Given the description of an element on the screen output the (x, y) to click on. 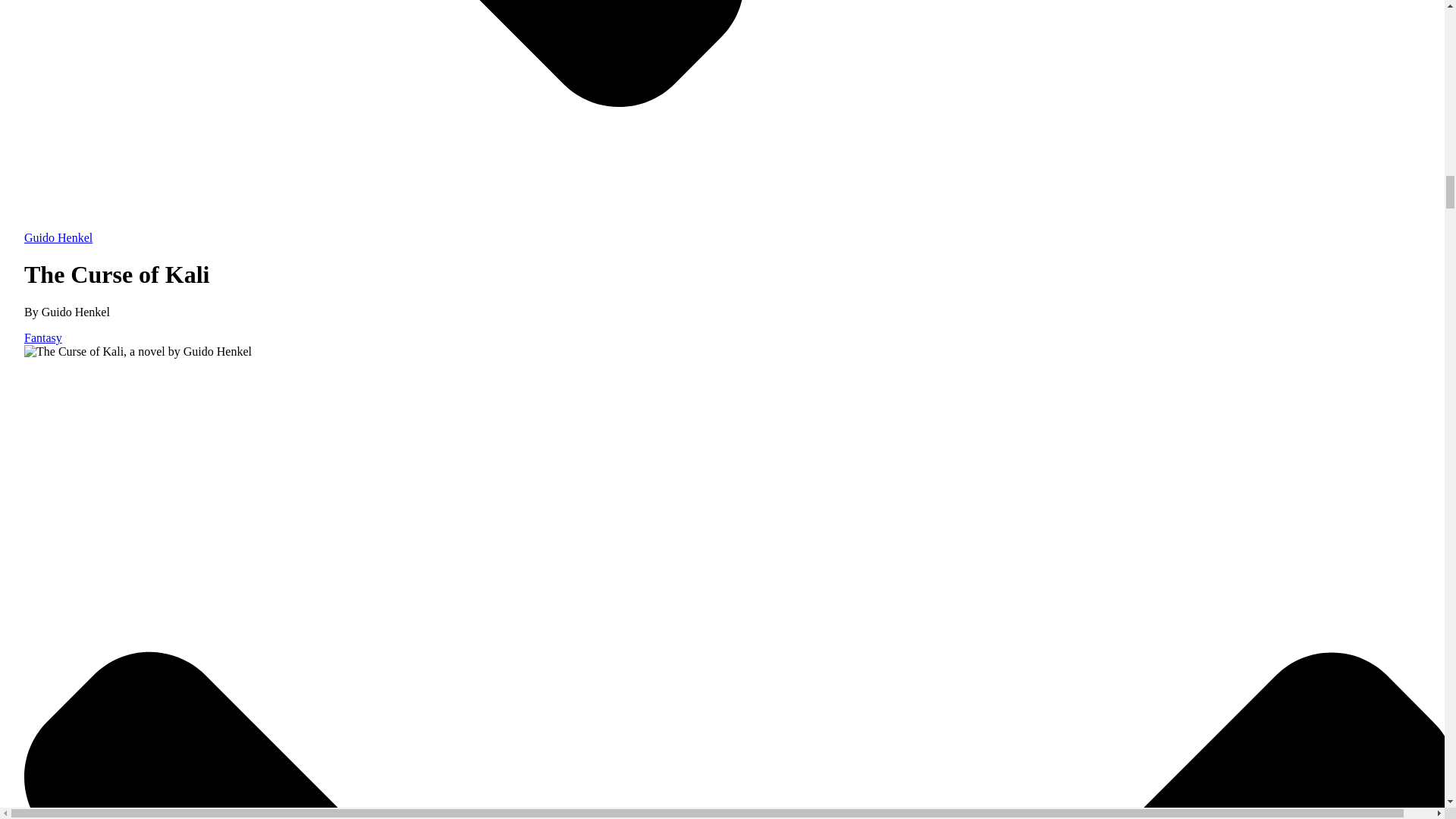
Fantasy (43, 337)
Guido Henkel (740, 230)
